Given the description of an element on the screen output the (x, y) to click on. 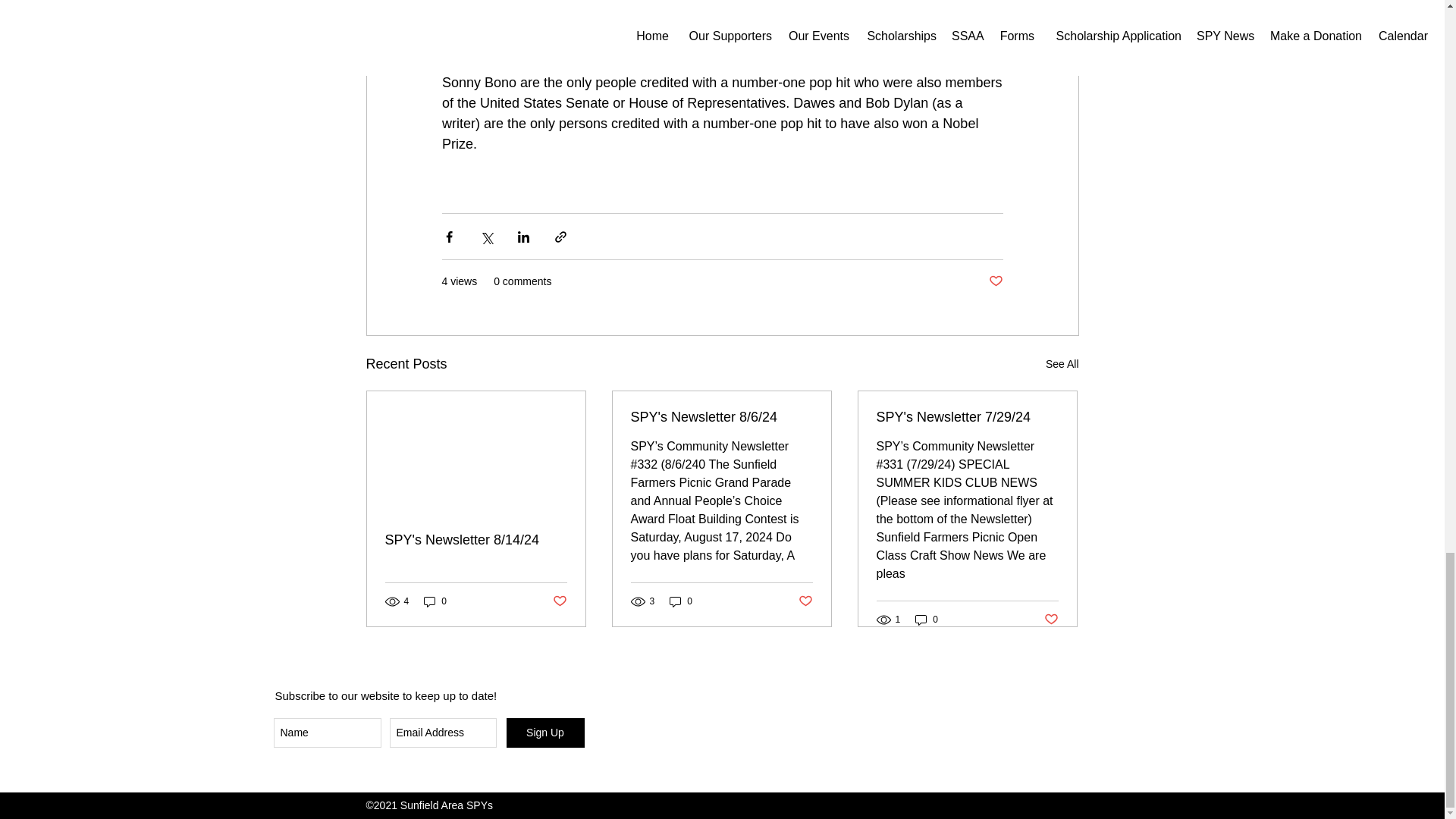
0 (435, 601)
Post not marked as liked (995, 281)
Post not marked as liked (558, 600)
See All (1061, 363)
